Given the description of an element on the screen output the (x, y) to click on. 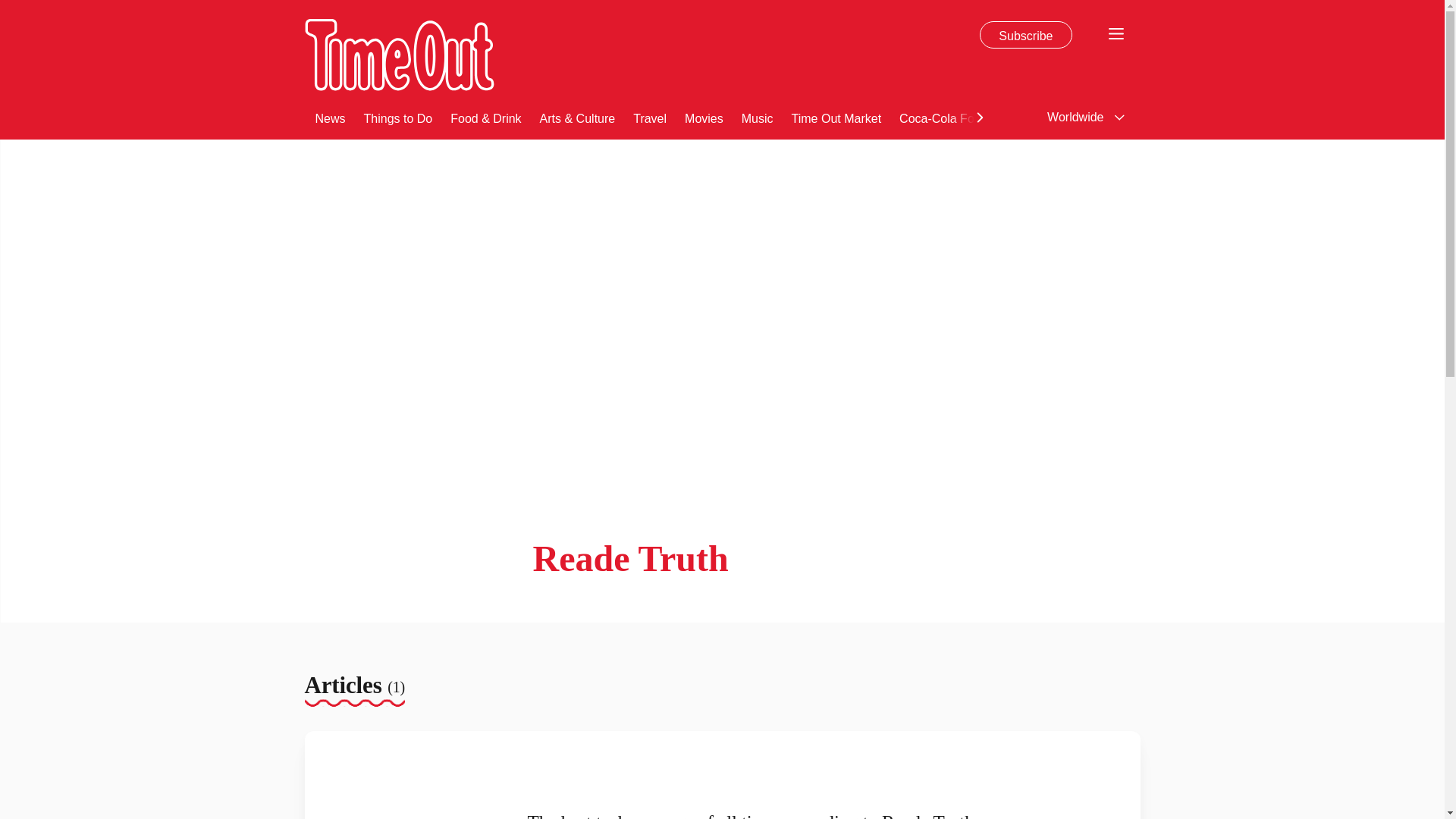
Things to Do (397, 116)
News (330, 116)
Time Out Market (836, 116)
The best techno songs of all time, according to Reade Truth (412, 780)
Movies (703, 116)
Go to the content (10, 7)
Music (756, 116)
Travel (649, 116)
Coca-Cola Foodmarks (960, 116)
Subscribe (1025, 34)
